Given the description of an element on the screen output the (x, y) to click on. 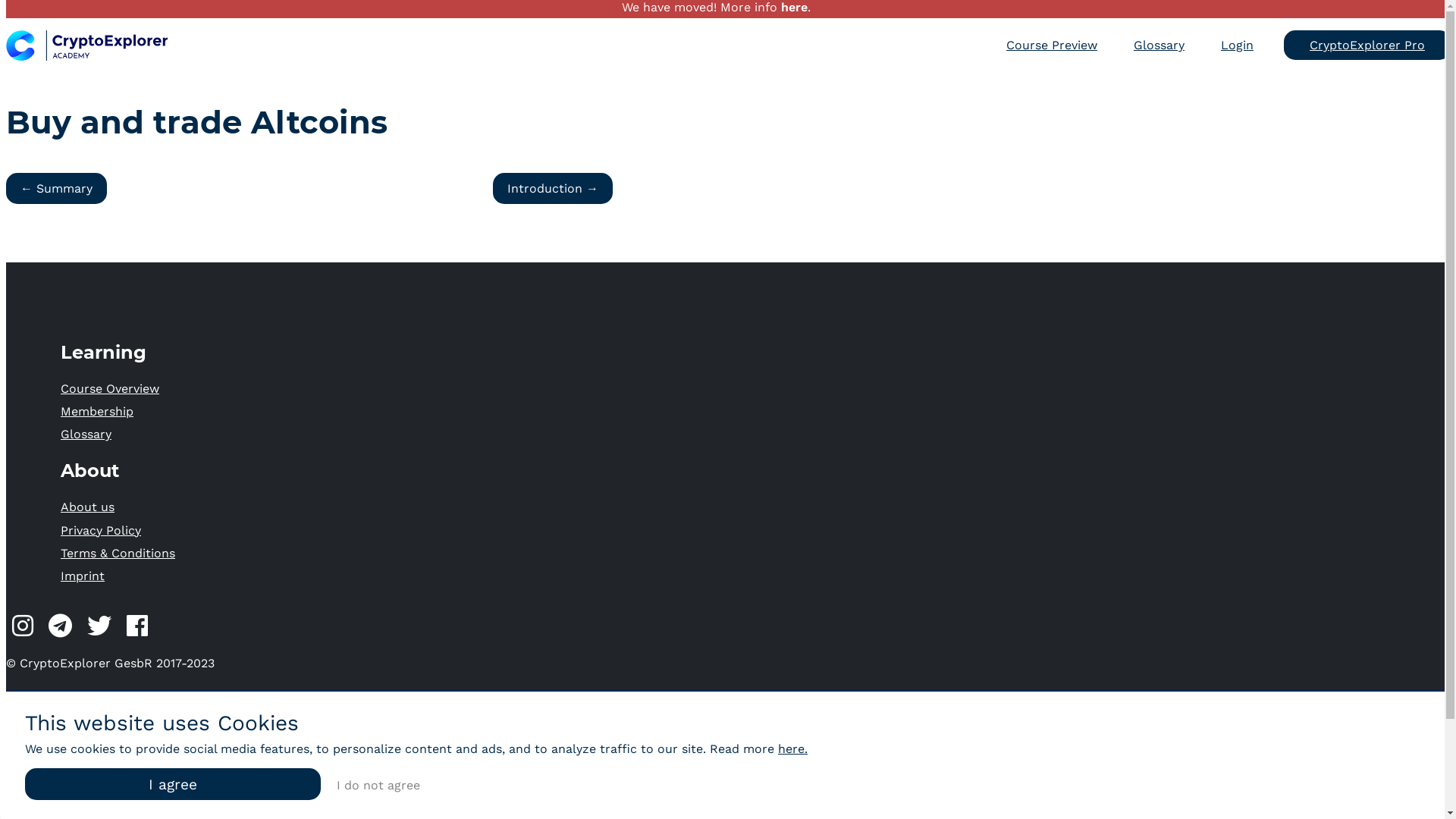
I agree Element type: text (172, 784)
here Element type: text (794, 7)
Glossary Element type: text (1158, 44)
Terms & Conditions Element type: text (117, 553)
here. Element type: text (792, 748)
Imprint Element type: text (82, 575)
CryptoExplorer Pro Element type: text (1367, 44)
Privacy Policy Element type: text (100, 530)
I do not agree Element type: text (378, 784)
Introduction Element type: text (552, 187)
Glossary Element type: text (85, 433)
Membership Element type: text (96, 411)
Course Preview Element type: text (1051, 44)
CryptoExplorer Logo Element type: hover (86, 45)
Login Element type: text (1236, 44)
Course Overview Element type: text (109, 388)
Summary Element type: text (56, 187)
About us Element type: text (87, 506)
